Given the description of an element on the screen output the (x, y) to click on. 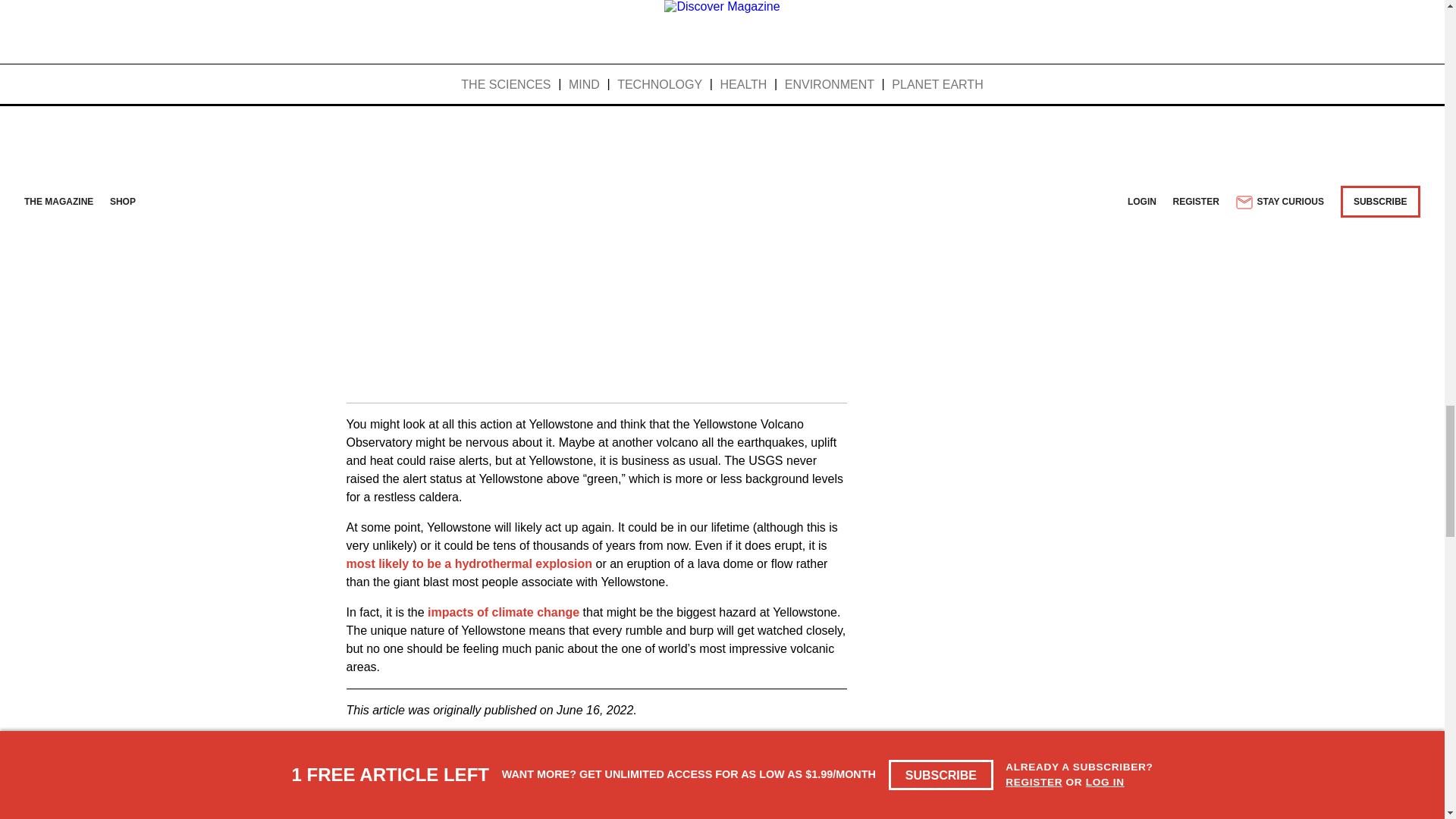
impacts of climate change (503, 612)
most likely to be a hydrothermal explosion (469, 563)
earth science (390, 753)
natural disasters (496, 753)
